Given the description of an element on the screen output the (x, y) to click on. 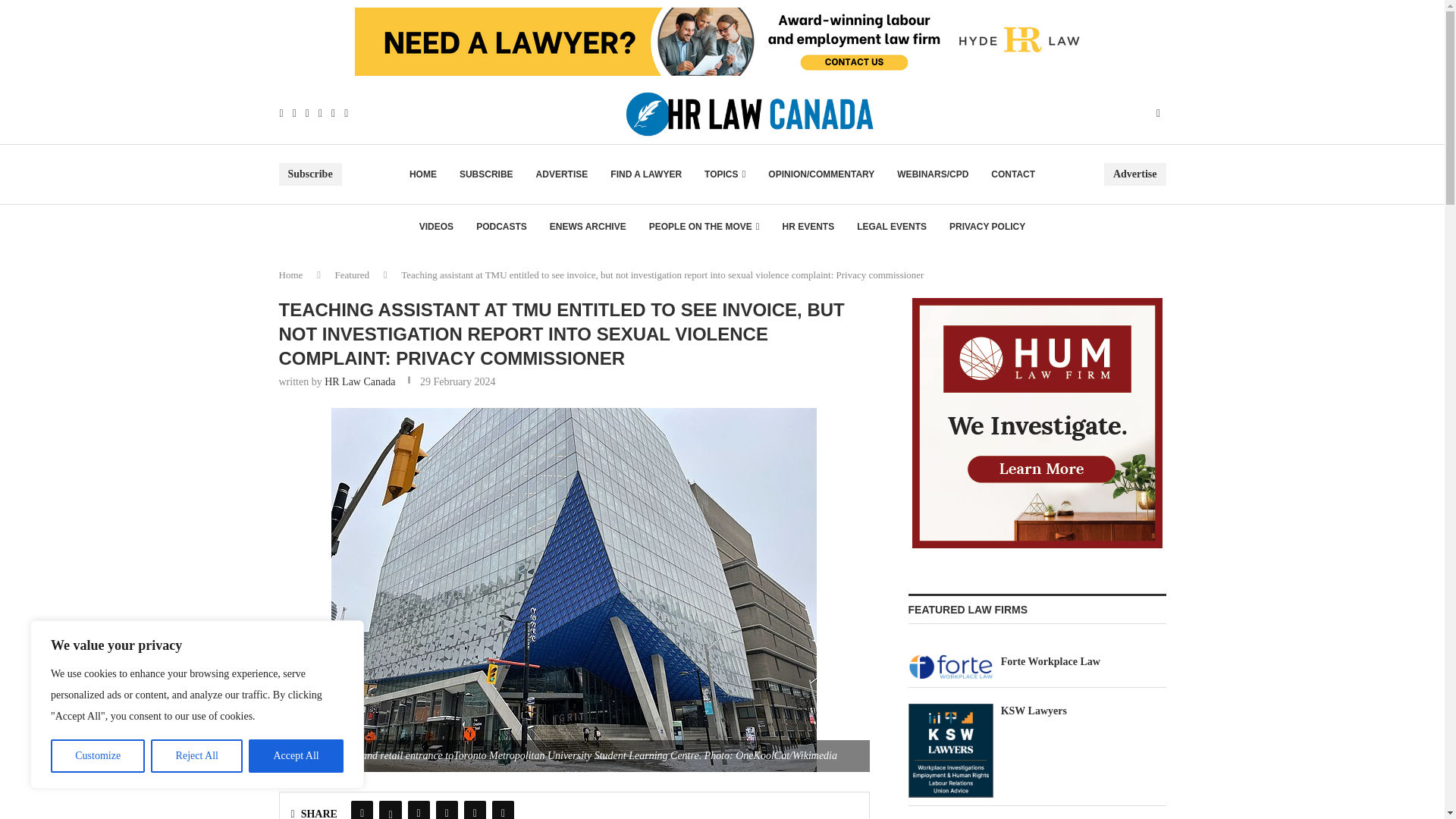
Customize (97, 756)
HR Law Canada (359, 381)
Reject All (197, 756)
Accept All (295, 756)
